Given the description of an element on the screen output the (x, y) to click on. 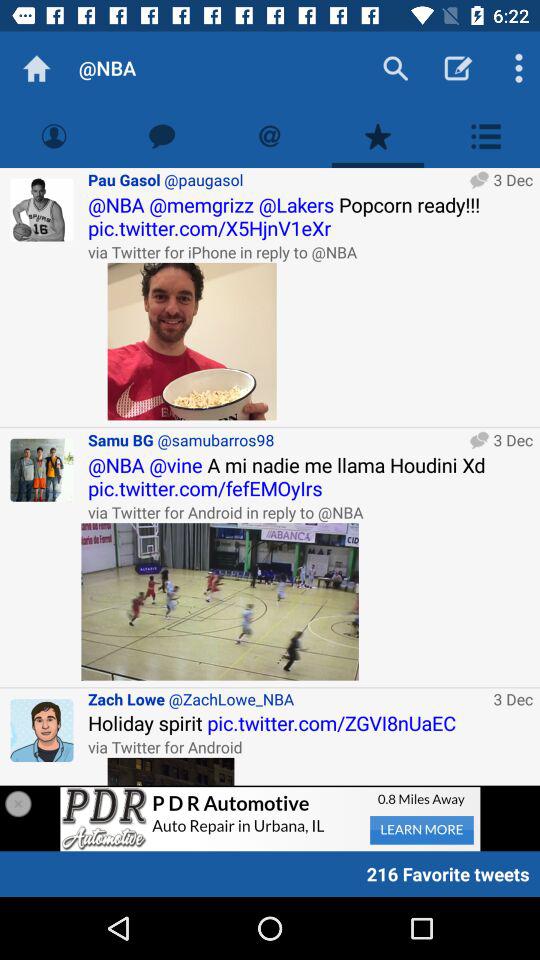
view advertisement (170, 771)
